Given the description of an element on the screen output the (x, y) to click on. 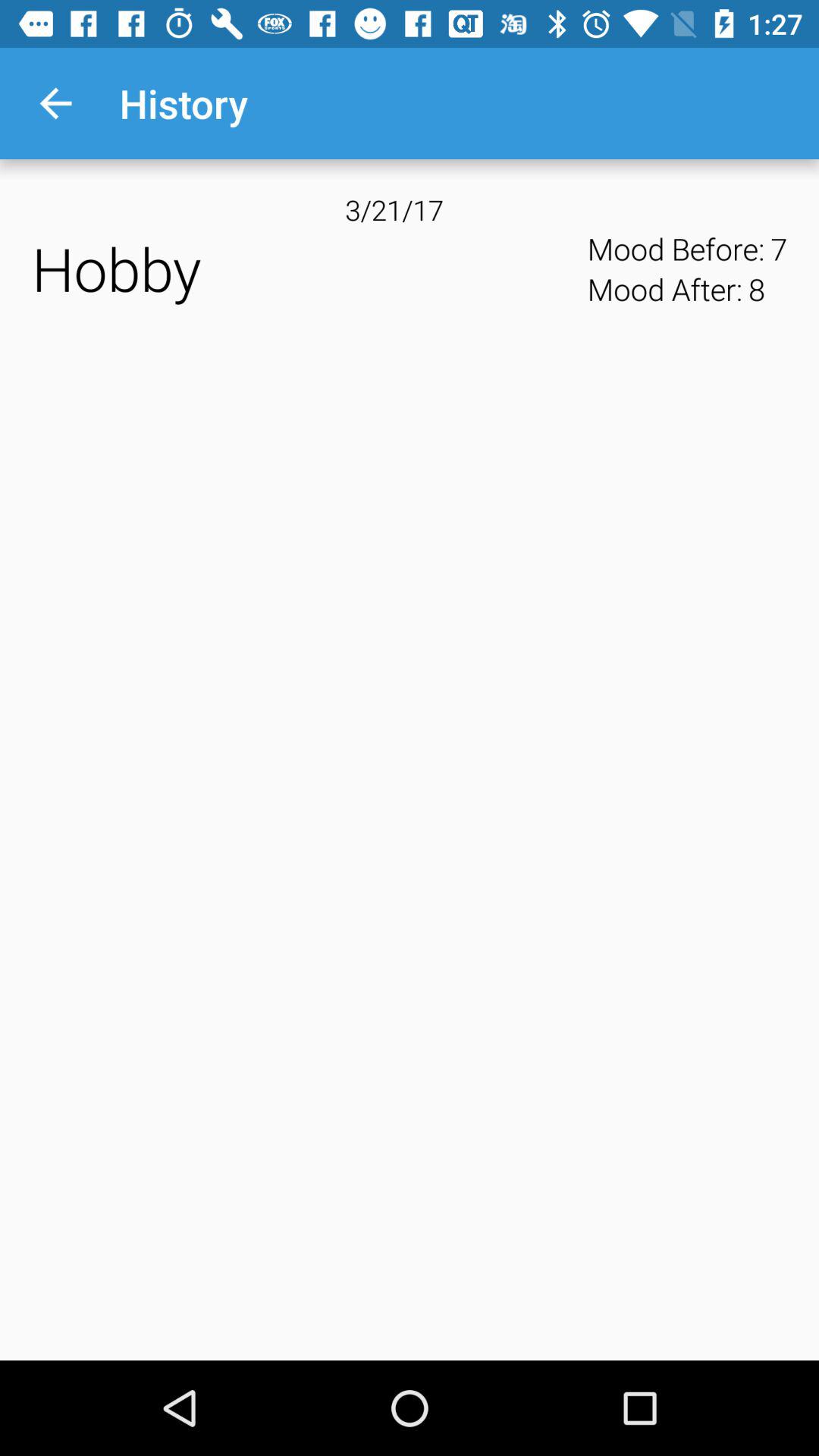
open item next to the 8 (778, 248)
